Given the description of an element on the screen output the (x, y) to click on. 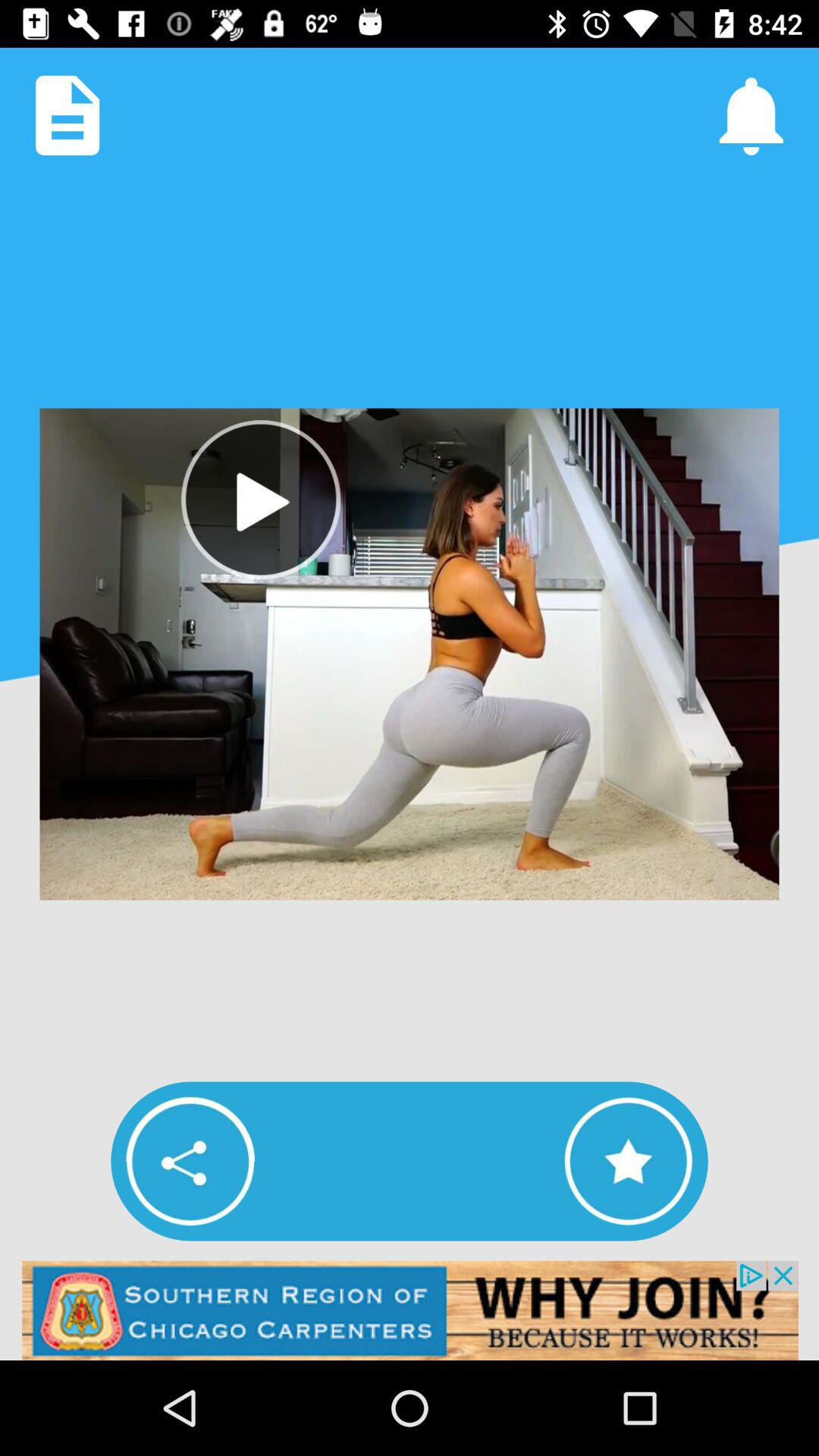
view notifications (751, 115)
